Given the description of an element on the screen output the (x, y) to click on. 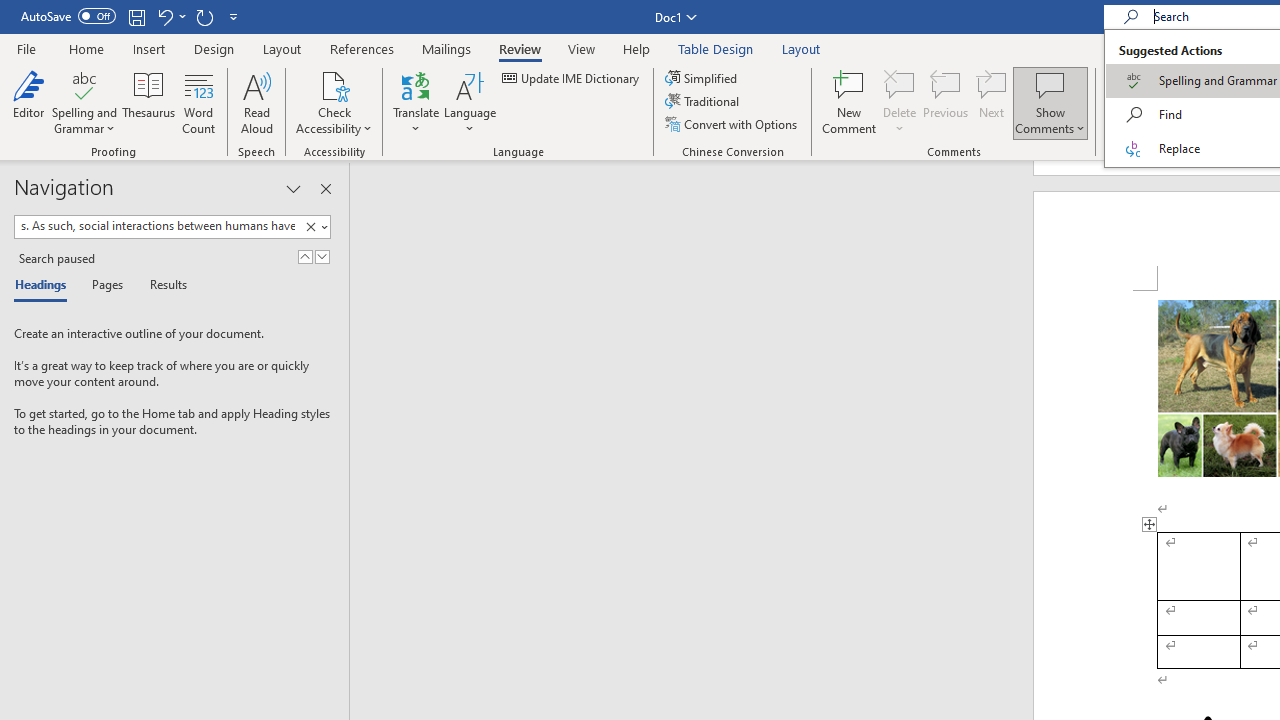
Language (470, 102)
Previous (946, 102)
Show Markup (1222, 101)
Results (161, 285)
Track Changes (1134, 102)
Clear (314, 227)
Next (991, 102)
Design (214, 48)
Delete (900, 102)
Mailings (447, 48)
Save (136, 15)
Simplified (702, 78)
